Given the description of an element on the screen output the (x, y) to click on. 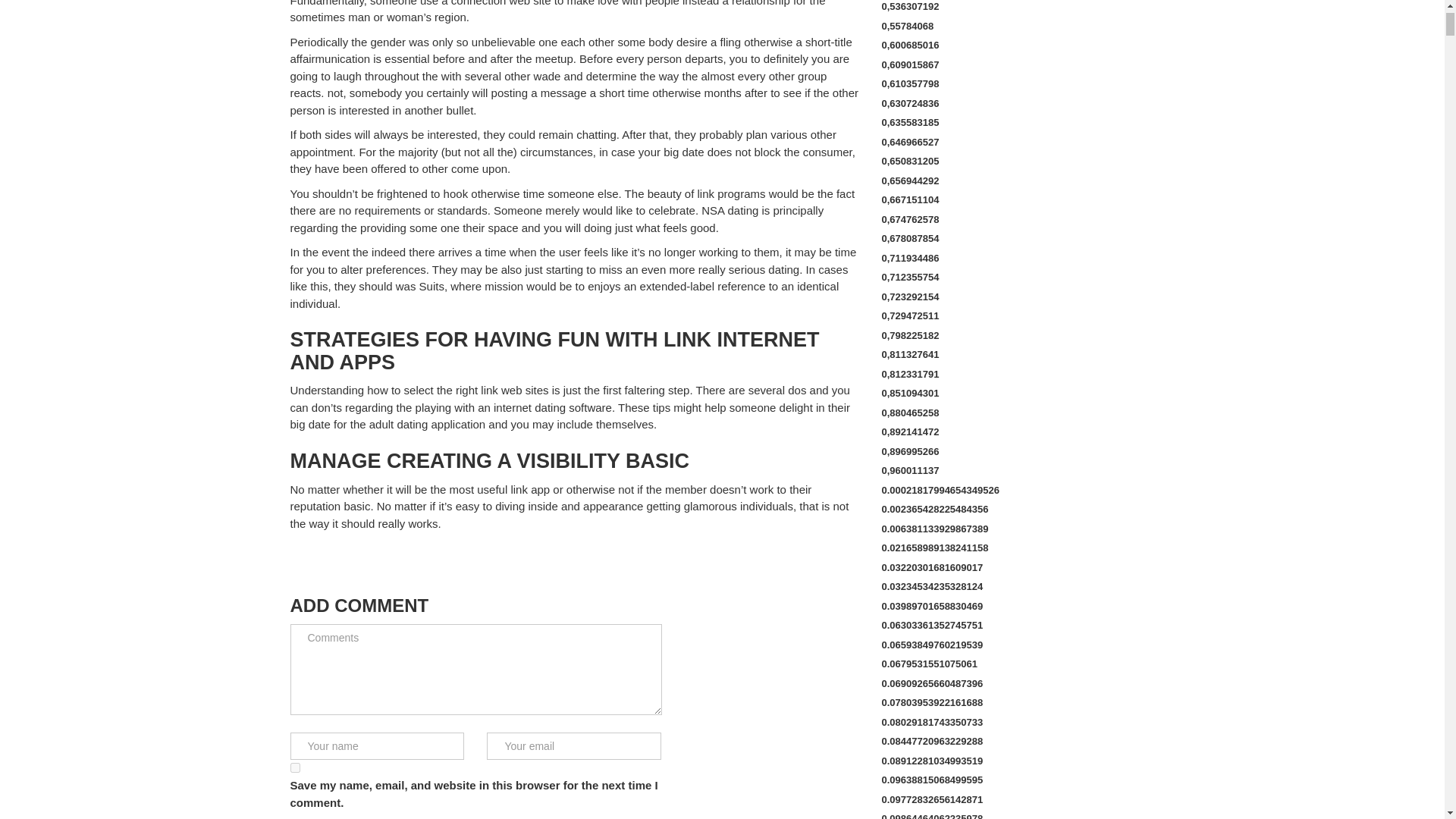
yes (294, 767)
